Given the description of an element on the screen output the (x, y) to click on. 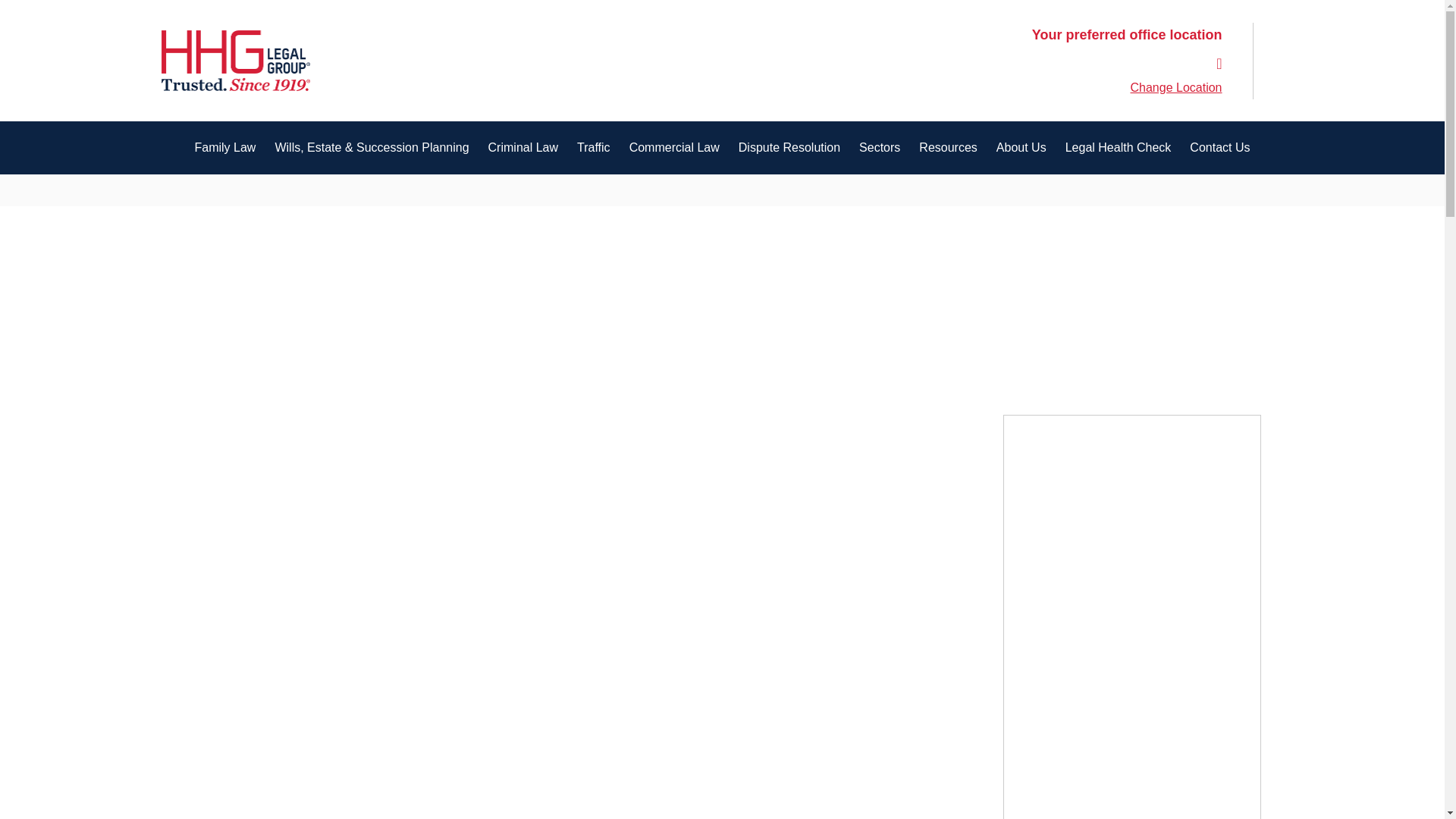
Family Law (224, 147)
Change Location (1177, 88)
Commercial Law (673, 147)
Criminal Law (523, 147)
Traffic (593, 147)
